Given the description of an element on the screen output the (x, y) to click on. 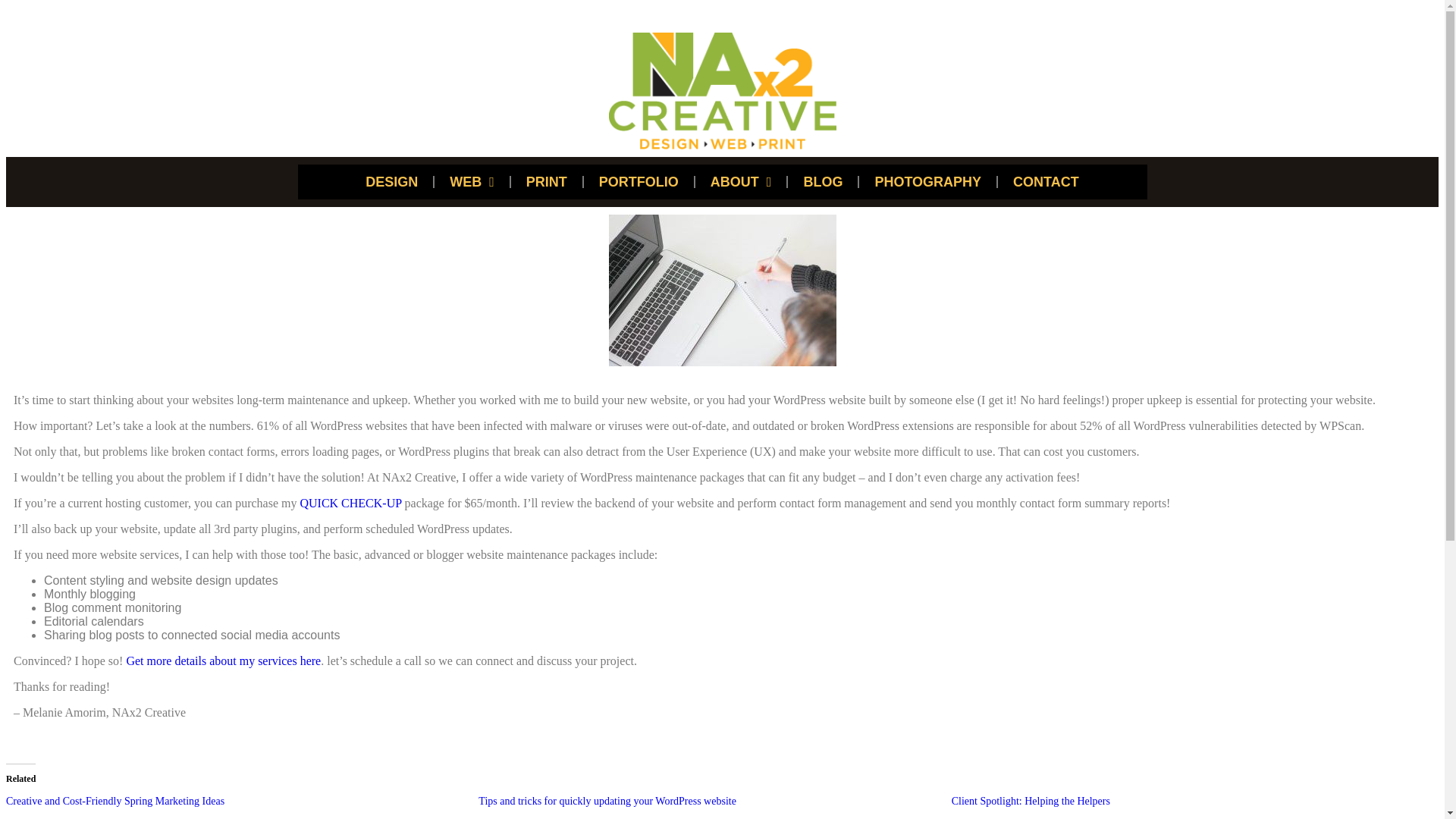
BLOG (822, 181)
Client Spotlight: Helping the Helpers (1030, 800)
ABOUT (741, 181)
Tips and tricks for quickly updating your WordPress website (607, 800)
QUICK CHECK-UP (350, 502)
Creative and Cost-Friendly Spring Marketing Ideas (114, 800)
PHOTOGRAPHY (927, 181)
PRINT (546, 181)
PORTFOLIO (638, 181)
WEB (471, 181)
